Given the description of an element on the screen output the (x, y) to click on. 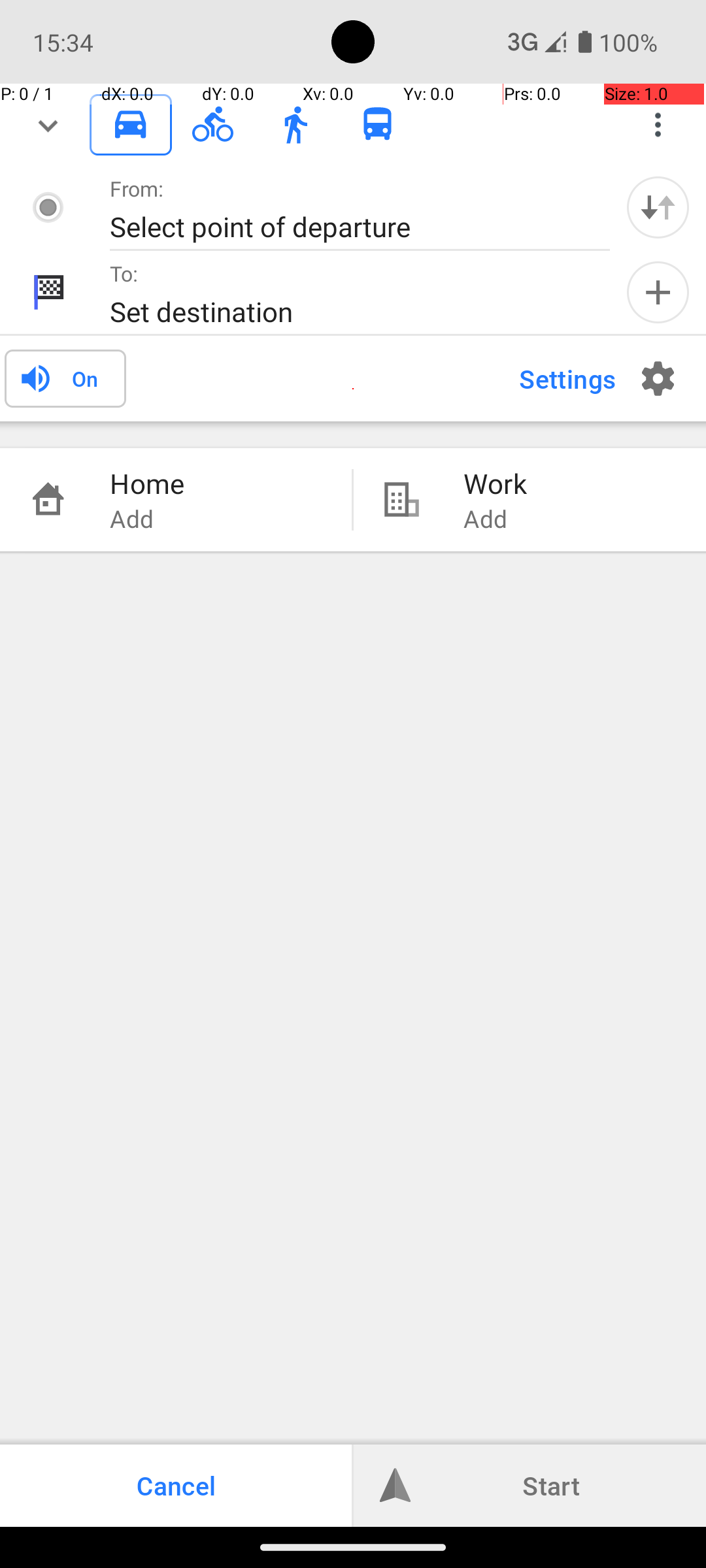
fold/unfold Element type: android.widget.ImageView (48, 124)
Choose app modes Element type: android.widget.ImageView (657, 124)
Driving Element type: android.widget.FrameLayout (130, 124)
Cycling Element type: android.widget.FrameLayout (212, 124)
Walking Element type: android.widget.FrameLayout (295, 124)
Public transport Element type: android.widget.FrameLayout (377, 124)
From: Element type: android.widget.TextView (136, 188)
Select point of departure Element type: android.widget.TextView (345, 226)
Swap Element type: android.widget.FrameLayout (657, 207)
To: Element type: android.widget.TextView (123, 273)
Set destination Element type: android.widget.TextView (345, 310)
Add Element type: android.widget.FrameLayout (657, 292)
Driving checked Element type: android.widget.ImageView (130, 124)
Cycling unchecked Element type: android.widget.ImageView (212, 124)
Walking unchecked Element type: android.widget.ImageView (294, 124)
Public transport unchecked Element type: android.widget.ImageView (377, 124)
On Element type: android.widget.TextView (84, 378)
